Given the description of an element on the screen output the (x, y) to click on. 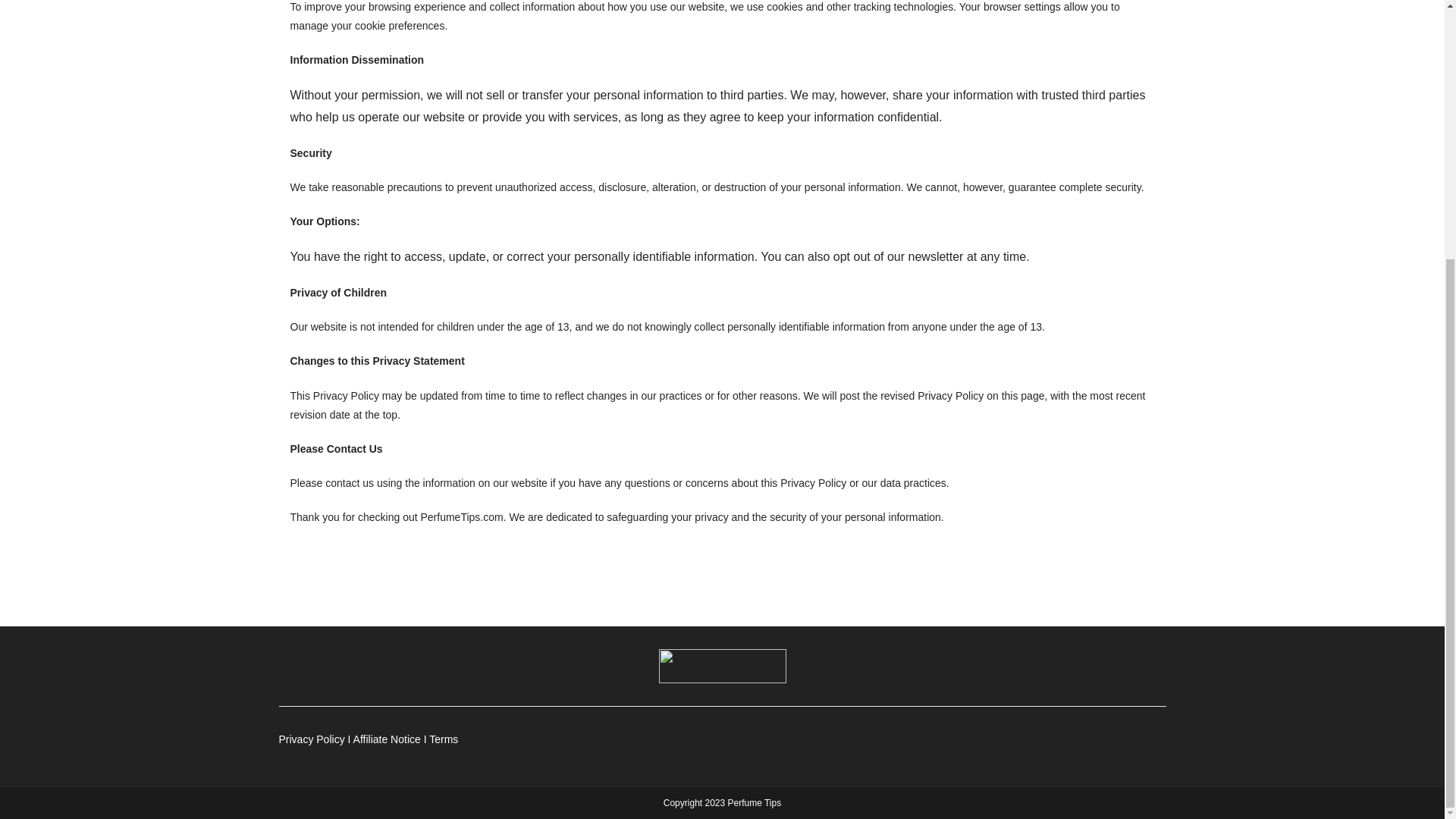
Affiliate Notice (386, 739)
Terms (443, 739)
Privacy Policy (312, 739)
